Given the description of an element on the screen output the (x, y) to click on. 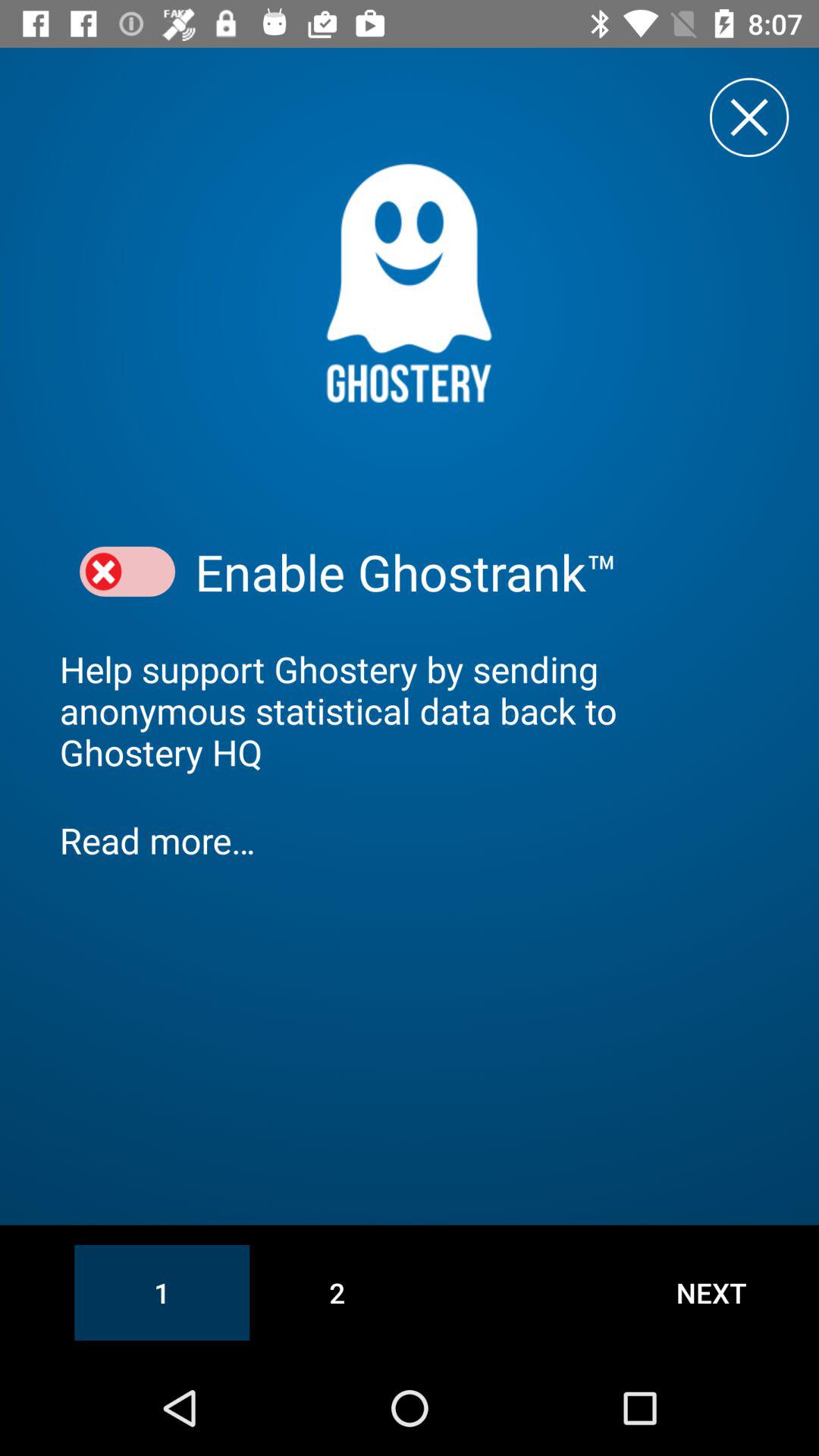
press the item above 1 (409, 840)
